Given the description of an element on the screen output the (x, y) to click on. 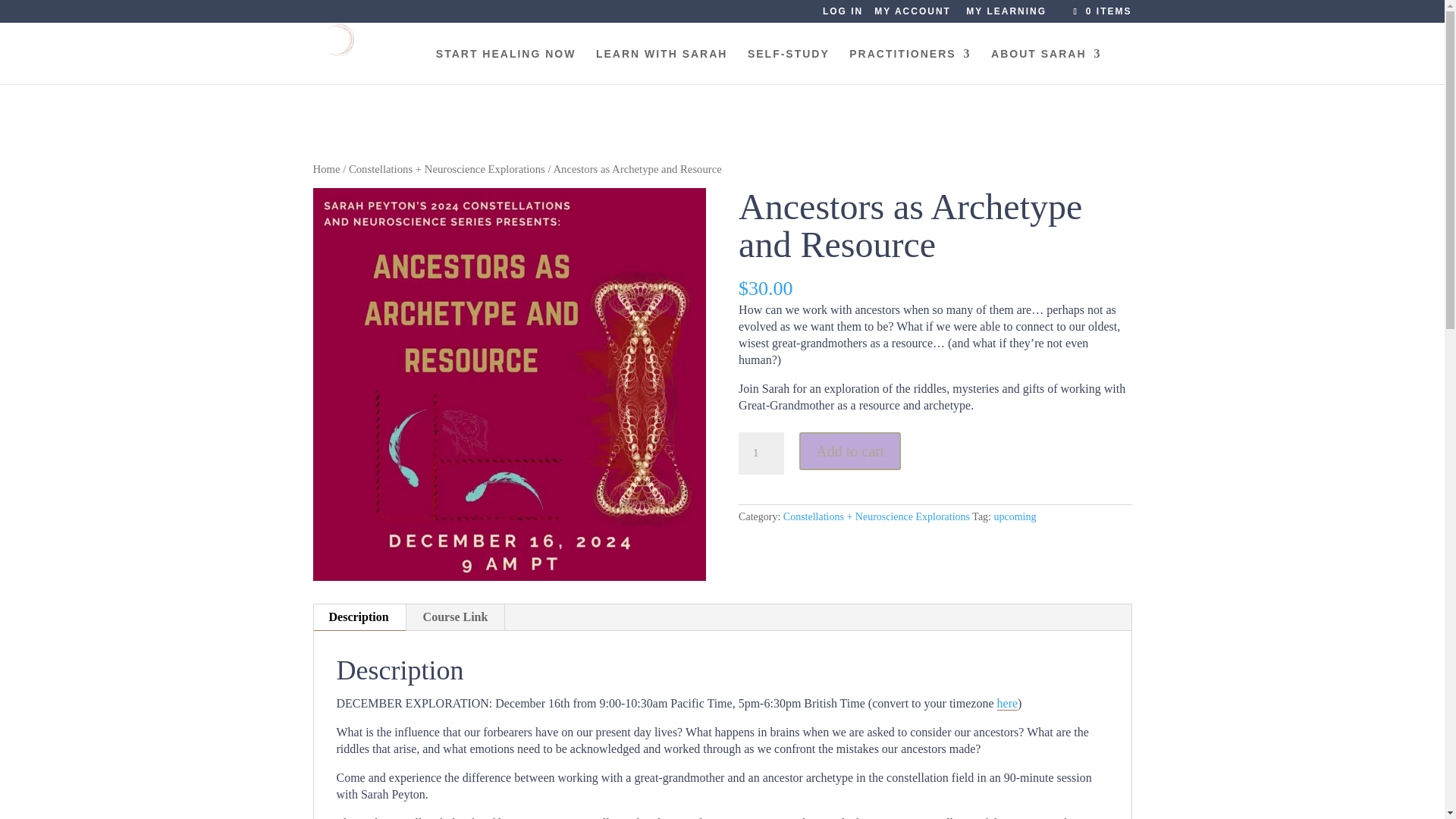
1 (761, 453)
Home (326, 168)
MY ACCOUNT (912, 14)
START HEALING NOW (505, 66)
LEARN WITH SARAH (661, 66)
ABOUT SARAH (1045, 66)
PRACTITIONERS (909, 66)
MY LEARNING (1006, 14)
0 ITEMS (1099, 10)
LOG IN (842, 14)
SELF-STUDY (788, 66)
